Given the description of an element on the screen output the (x, y) to click on. 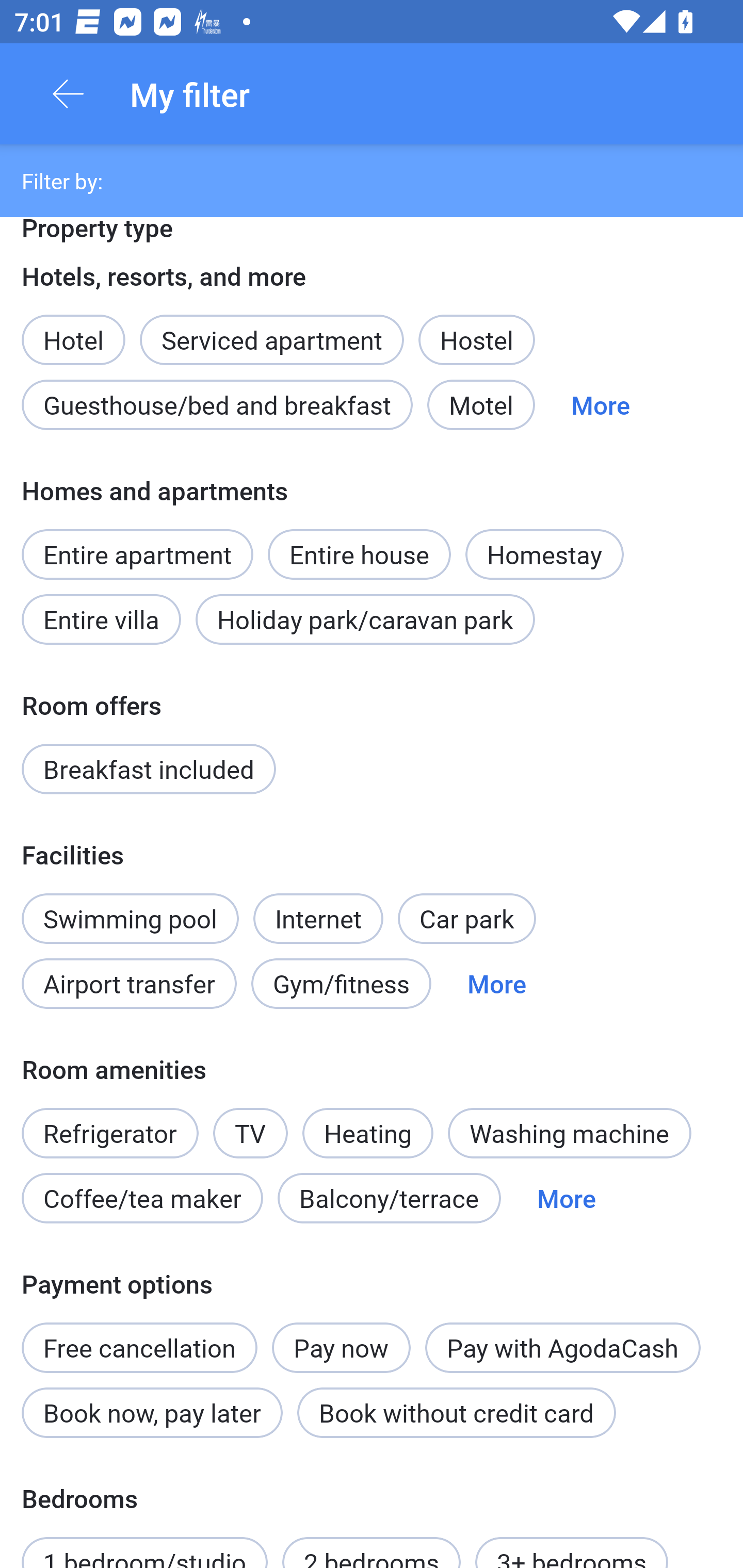
Hotel (73, 329)
Serviced apartment (271, 329)
Hostel (476, 339)
Guesthouse/bed and breakfast (217, 405)
Motel (480, 405)
More (600, 405)
Entire apartment (137, 554)
Entire house (359, 543)
Homestay (544, 554)
Entire villa (101, 619)
Holiday park/caravan park (364, 619)
Breakfast included (148, 768)
Swimming pool (130, 917)
Internet (318, 907)
Car park (466, 917)
Airport transfer (129, 983)
Gym/fitness (341, 983)
More (496, 983)
Refrigerator (109, 1122)
TV (250, 1132)
Heating (367, 1122)
Washing machine (569, 1132)
Coffee/tea maker (142, 1198)
Balcony/terrace (388, 1198)
More (566, 1198)
Free cancellation (139, 1336)
Pay now (340, 1347)
Pay with AgodaCash (562, 1347)
Book now, pay later (152, 1412)
Book without credit card (456, 1412)
1 bedroom/studio (144, 1543)
2 bedrooms (371, 1543)
3+ bedrooms (571, 1543)
